Given the description of an element on the screen output the (x, y) to click on. 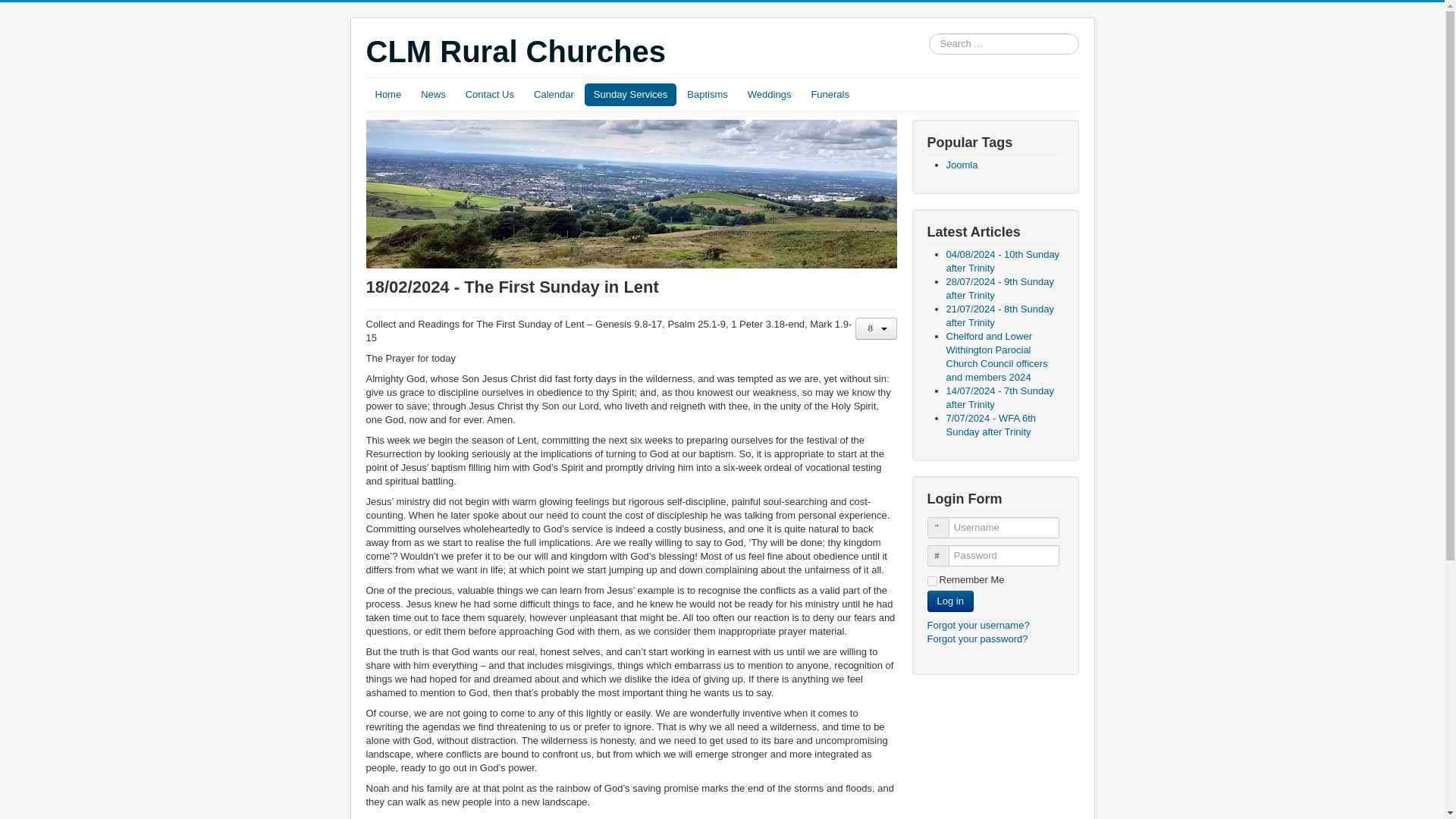
Calendar (553, 94)
Funerals (830, 94)
Joomla (962, 164)
Home (387, 94)
Forgot your password? (976, 638)
yes (931, 581)
Baptisms (707, 94)
Weddings (769, 94)
Sunday Services (631, 94)
Log in (949, 600)
Forgot your username? (977, 624)
CLM Rural Churches (515, 51)
News (433, 94)
Contact Us (489, 94)
